Given the description of an element on the screen output the (x, y) to click on. 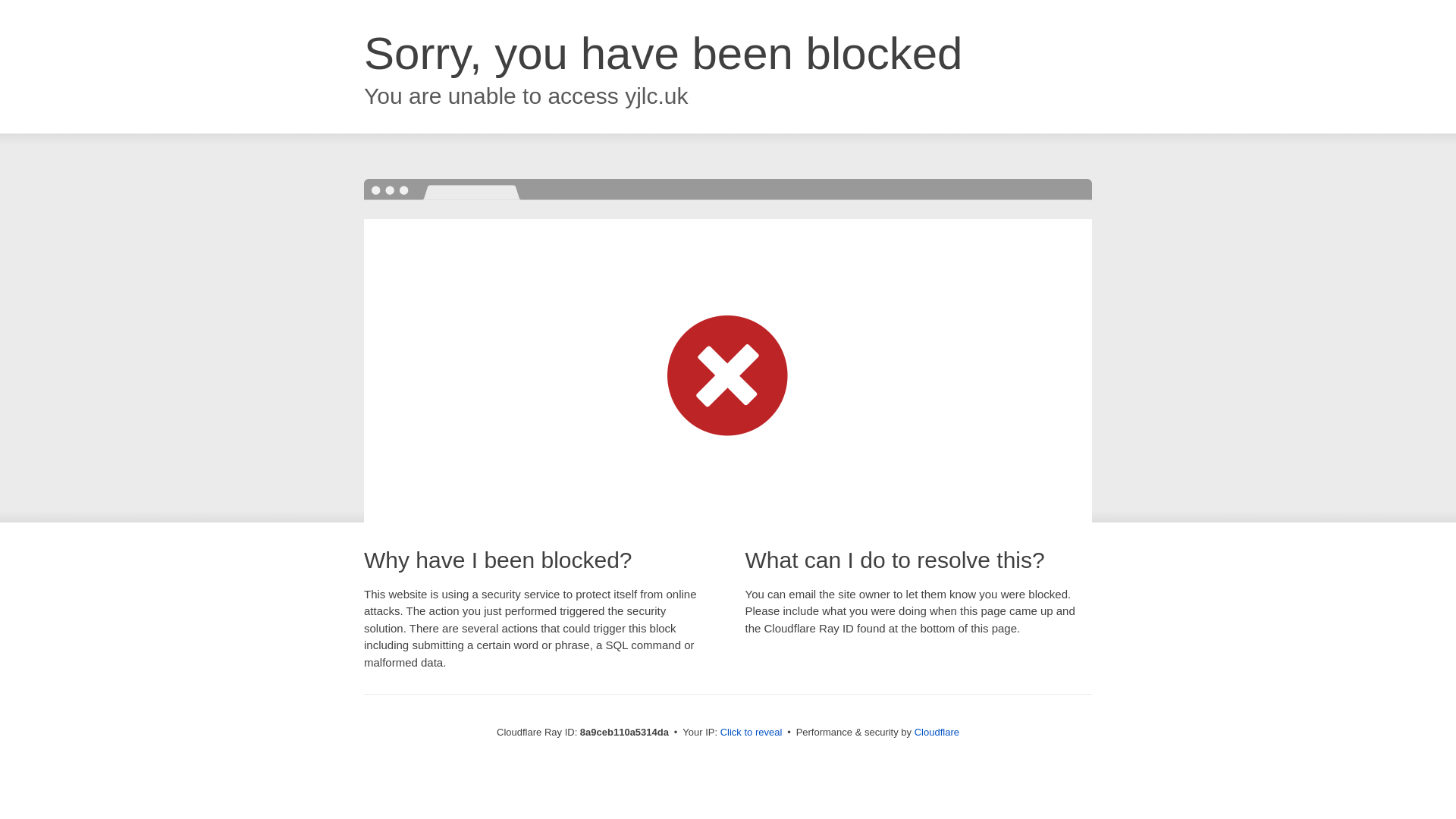
Click to reveal (751, 732)
Cloudflare (936, 731)
